Given the description of an element on the screen output the (x, y) to click on. 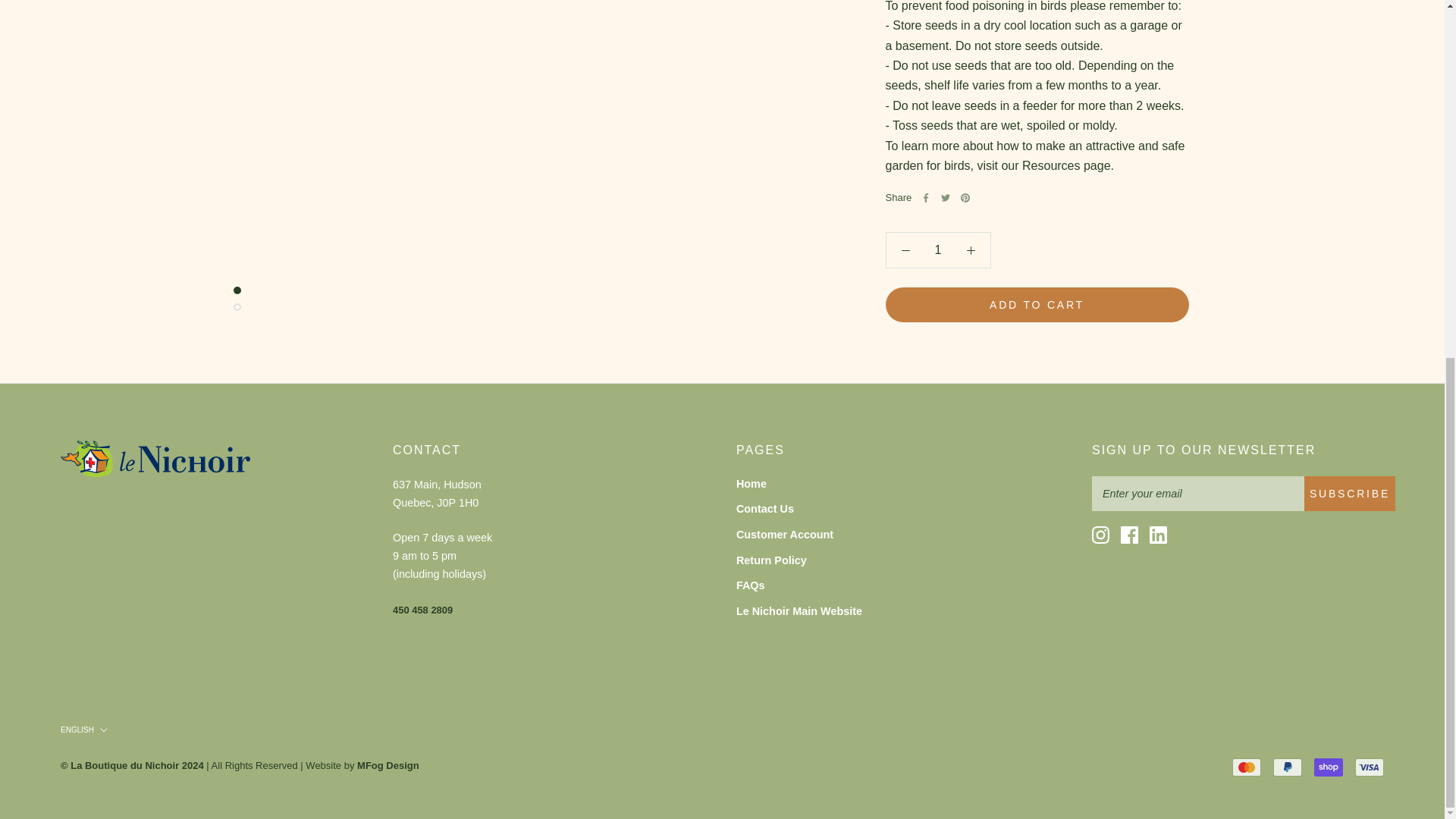
ADD TO CART (1037, 218)
PayPal (1286, 767)
Mastercard (1245, 767)
Visa (1369, 767)
Contact Us (798, 509)
Home (798, 484)
450 458 2809 (422, 609)
tel:450 458 2809 (422, 609)
Shop Pay (1328, 767)
1 (938, 164)
